Given the description of an element on the screen output the (x, y) to click on. 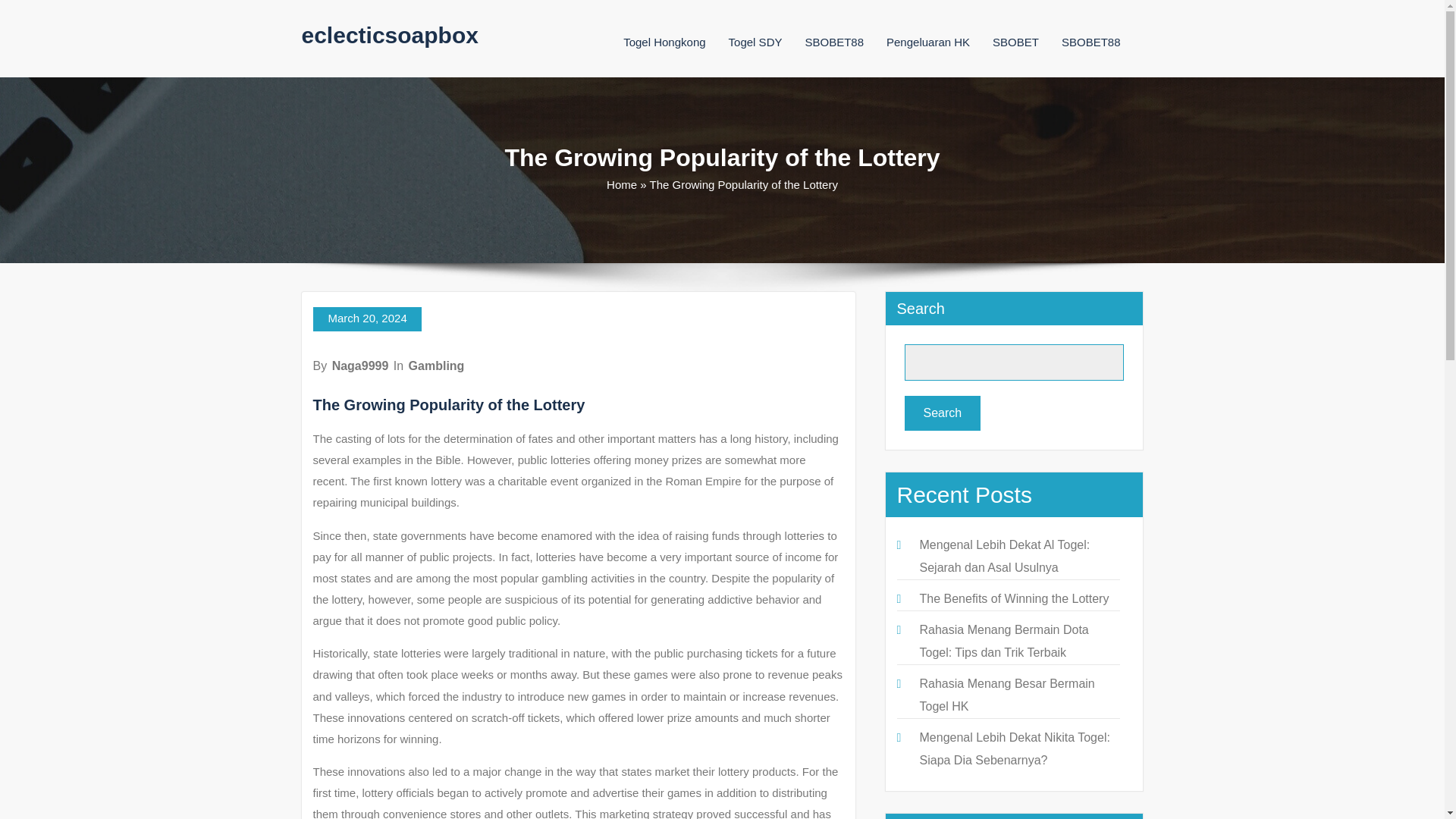
Mengenal Lebih Dekat Nikita Togel: Siapa Dia Sebenarnya? (1013, 748)
Search (941, 412)
Pengeluaran HK (927, 41)
eclecticsoapbox (390, 34)
SBOBET88 (834, 41)
Gambling (436, 365)
Rahasia Menang Bermain Dota Togel: Tips dan Trik Terbaik (1002, 641)
Rahasia Menang Besar Bermain Togel HK (1006, 694)
March 20, 2024 (366, 319)
Mengenal Lebih Dekat Al Togel: Sejarah dan Asal Usulnya (1003, 556)
